Given the description of an element on the screen output the (x, y) to click on. 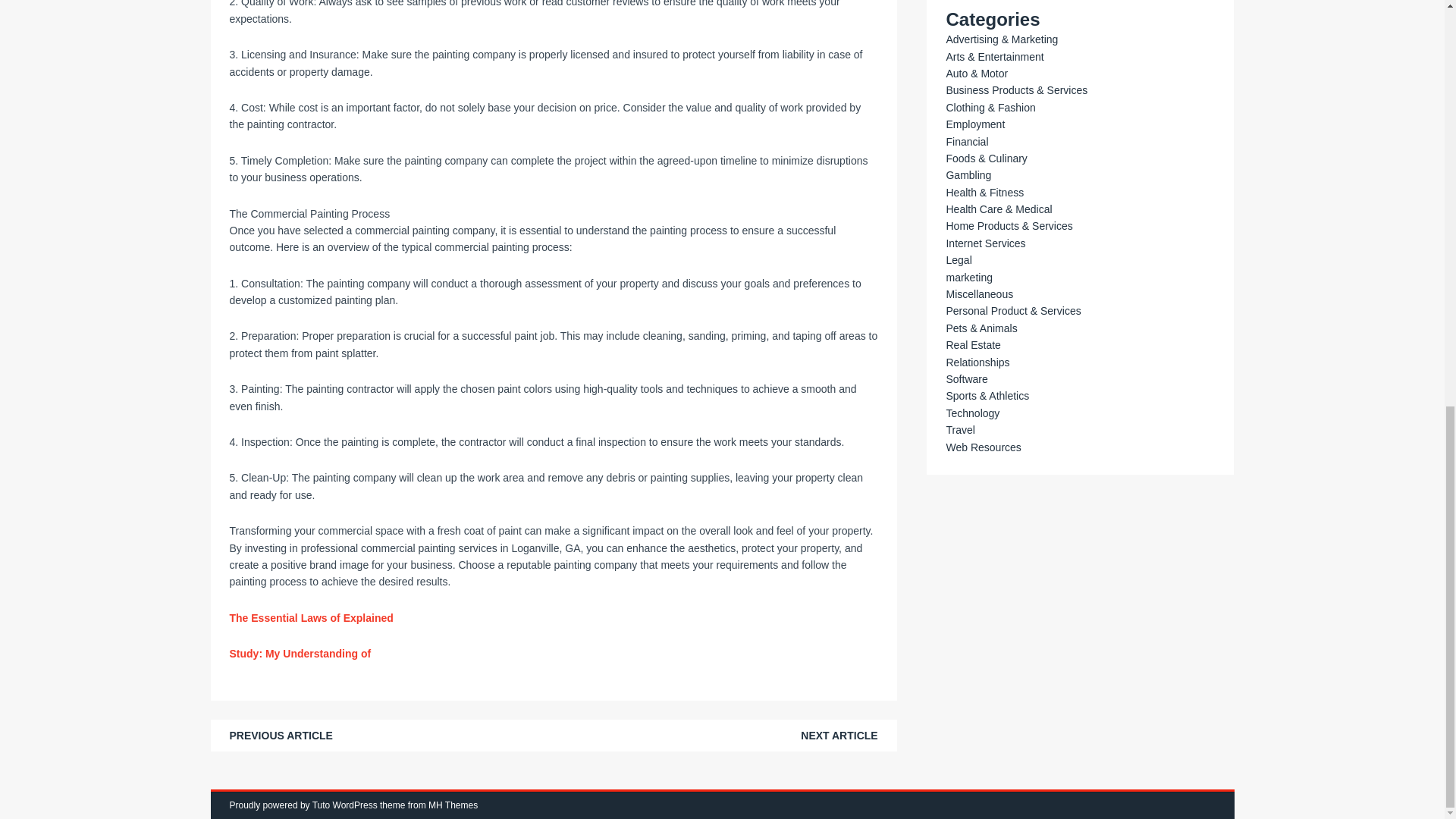
NEXT ARTICLE (838, 735)
Financial (966, 141)
Employment (974, 123)
PREVIOUS ARTICLE (279, 735)
The Essential Laws of Explained (310, 617)
Study: My Understanding of (299, 653)
